Given the description of an element on the screen output the (x, y) to click on. 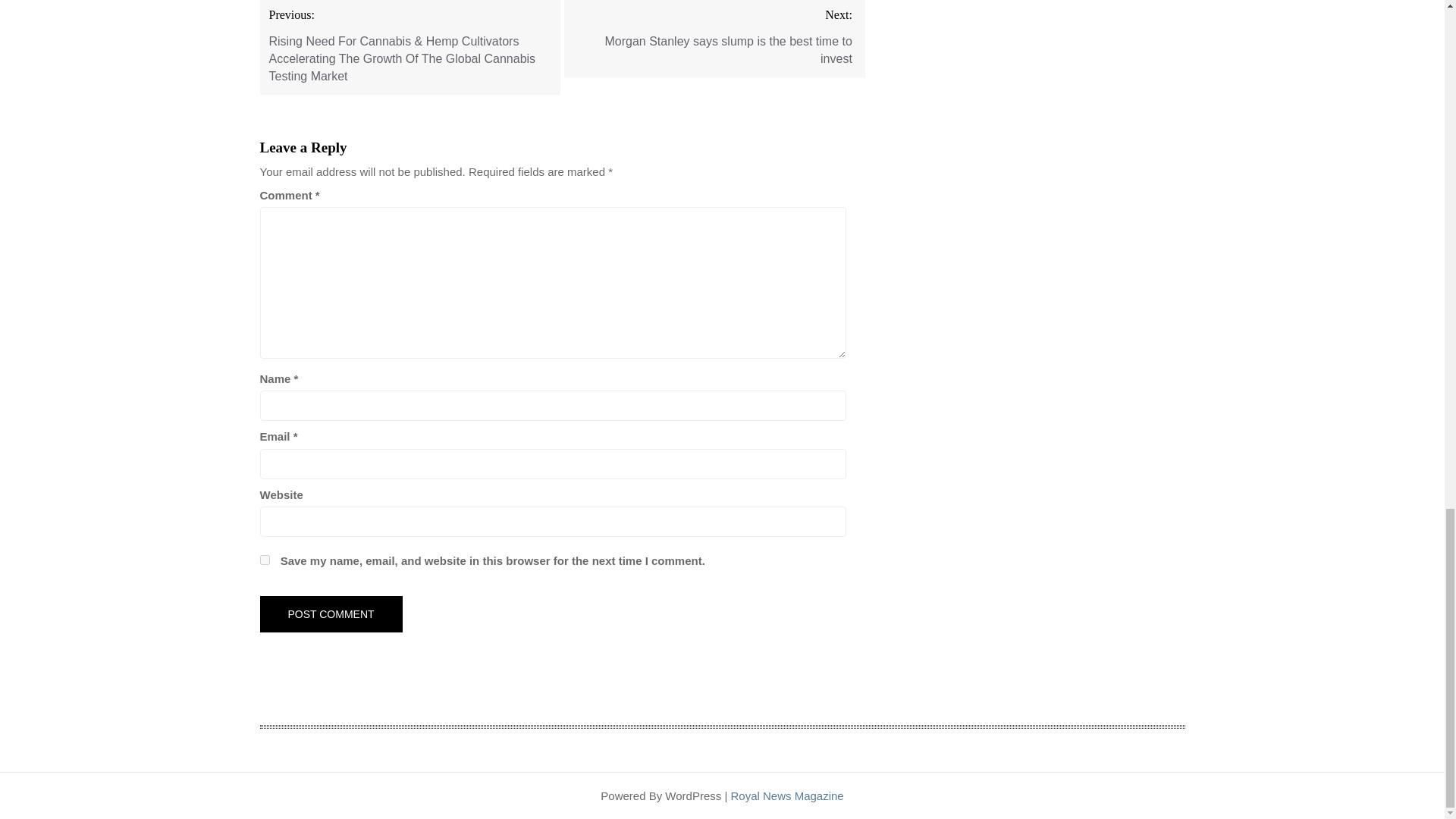
Royal News Magazine (786, 795)
Post Comment (330, 614)
Post Comment (330, 614)
yes (264, 560)
Next: Morgan Stanley says slump is the best time to invest (714, 38)
